Given the description of an element on the screen output the (x, y) to click on. 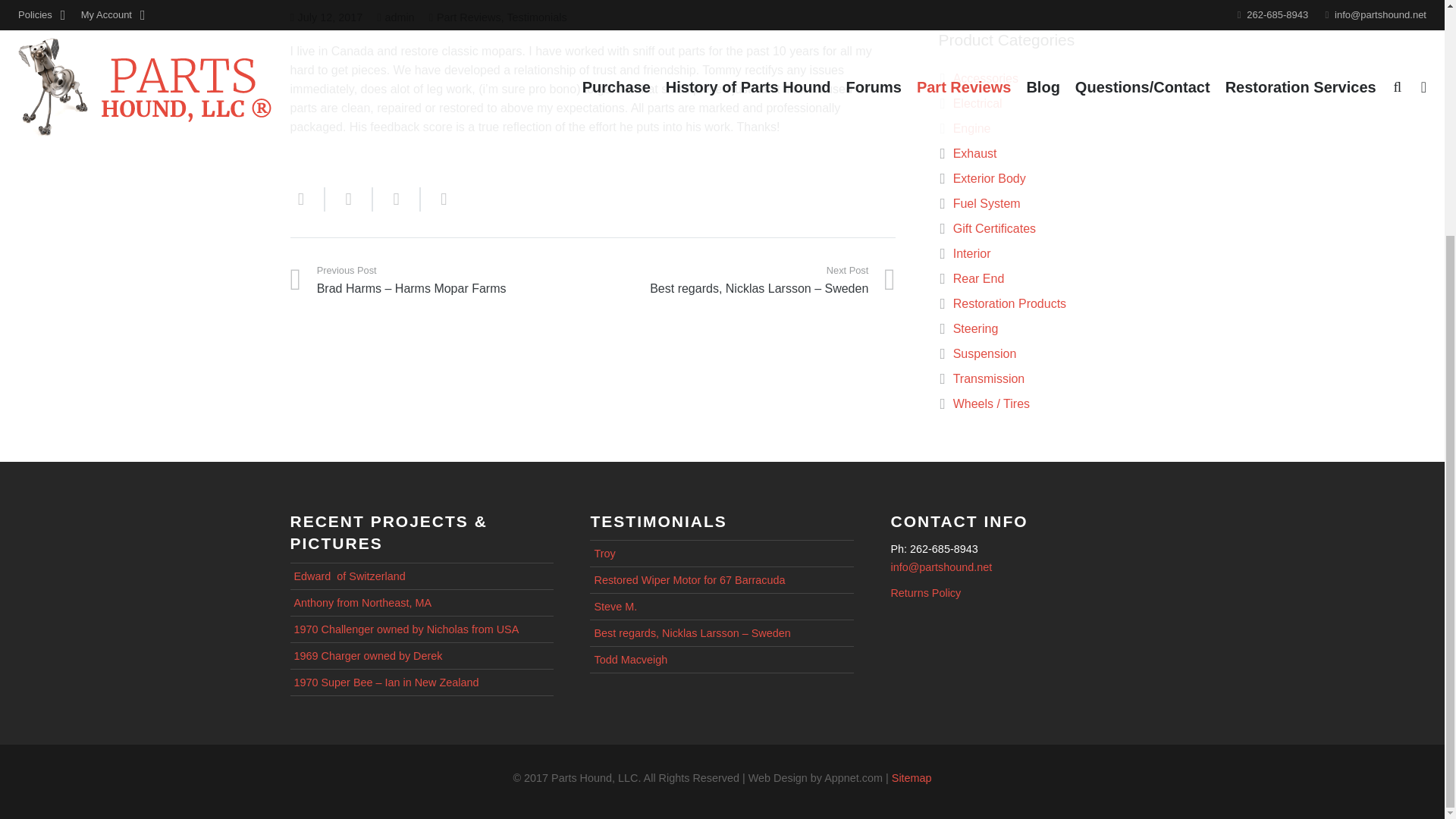
Fuel System (986, 203)
Share this (437, 199)
Gift Certificates (994, 228)
Exterior Body (989, 178)
Email this (306, 199)
Tweet this (396, 199)
Electrical (978, 103)
Accessories (985, 78)
Exhaust (975, 153)
Part Reviews (468, 17)
admin (398, 17)
Engine (972, 128)
Testimonials (536, 17)
Share this (348, 199)
